Given the description of an element on the screen output the (x, y) to click on. 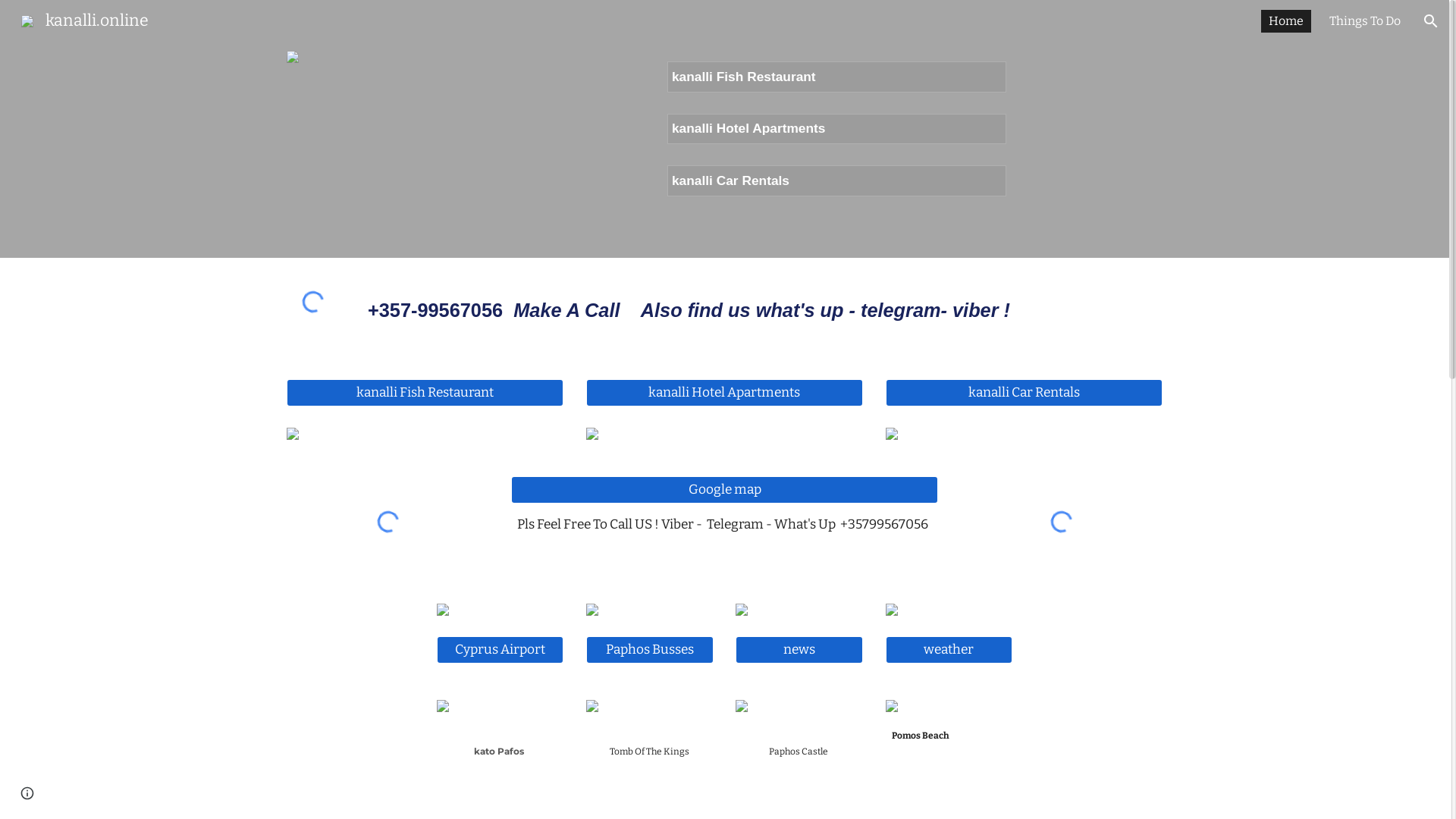
kanalli.online Element type: text (84, 20)
Google map Element type: text (723, 489)
Custom embed Element type: hover (1060, 521)
Paphos Busses Element type: text (649, 649)
kanalli Fish Restaurant Element type: text (743, 76)
weather Element type: text (949, 649)
Cyprus Airport Element type: text (500, 649)
kanalli Car Rentals Element type: text (730, 180)
Custom embed Element type: hover (312, 301)
kanalli Hotel Apartments Element type: text (724, 392)
Things To Do Element type: text (1364, 20)
Custom embed Element type: hover (387, 521)
kanalli Fish Restaurant Element type: text (424, 392)
news Element type: text (799, 649)
kanalli Hotel Apartments Element type: text (748, 128)
Home Element type: text (1286, 20)
kanalli Car Rentals Element type: text (1023, 392)
